Given the description of an element on the screen output the (x, y) to click on. 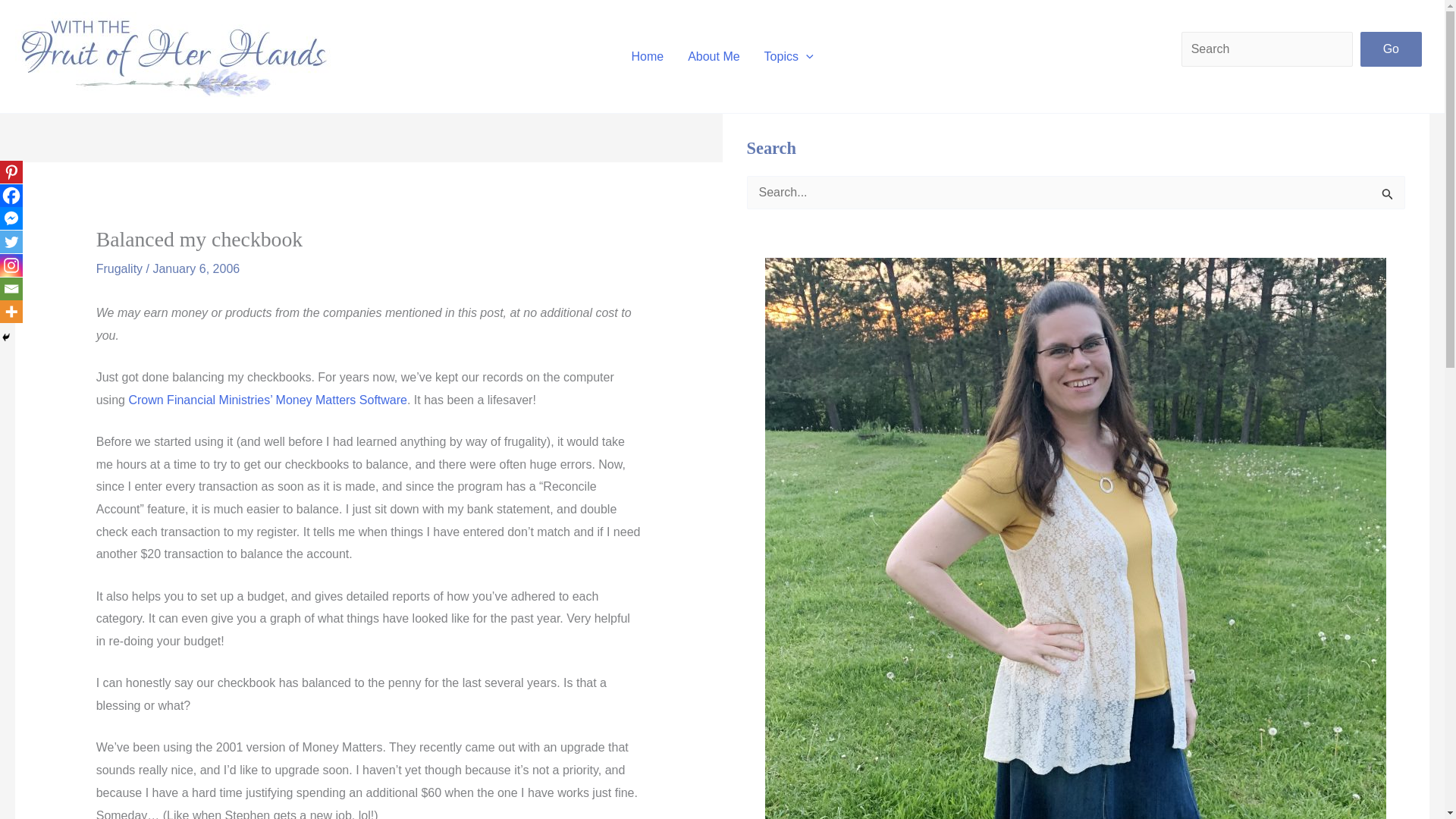
Hide (5, 337)
About Me (713, 56)
Home (646, 56)
Twitter (11, 241)
Pinterest (11, 171)
Go (1390, 48)
Email (11, 288)
More (11, 311)
Instagram (11, 264)
Topics (788, 56)
Facebook (11, 195)
